Given the description of an element on the screen output the (x, y) to click on. 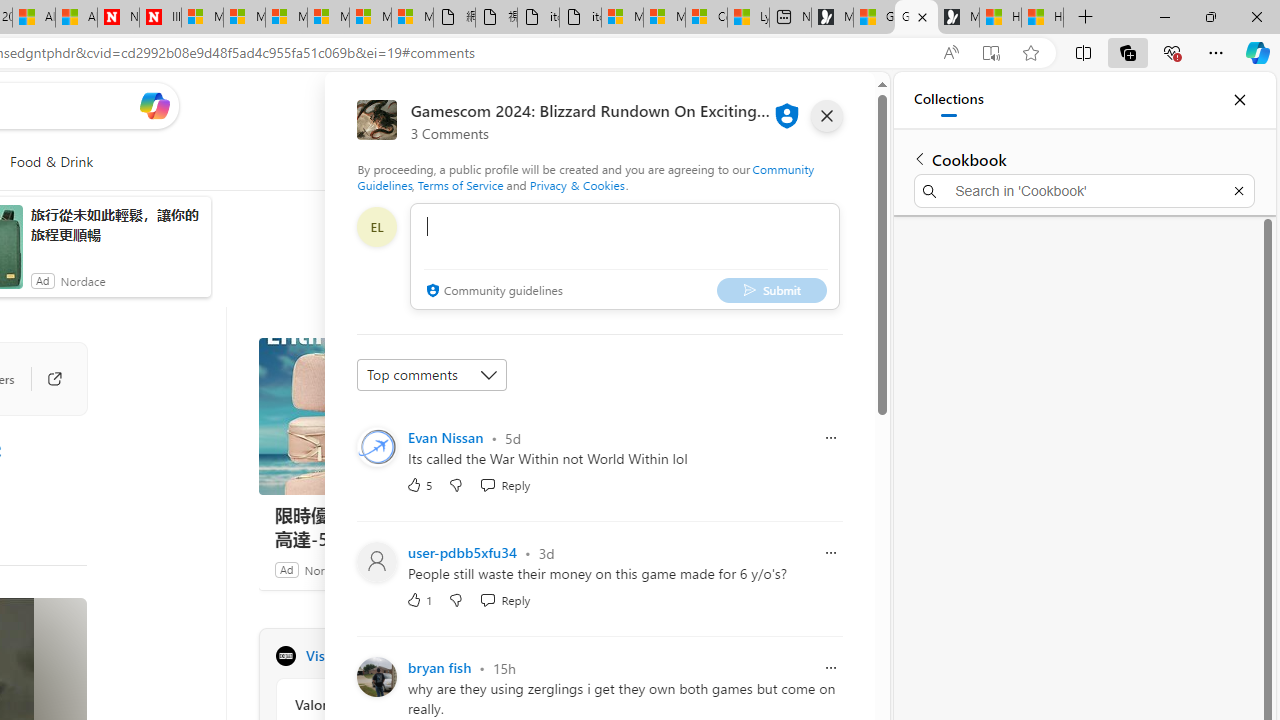
Reply Reply Comment (505, 600)
Back to list of collections (920, 158)
itconcepthk.com/projector_solutions.mp4 (580, 17)
Evan Nissan (445, 437)
Go to publisher's site (44, 378)
